Given the description of an element on the screen output the (x, y) to click on. 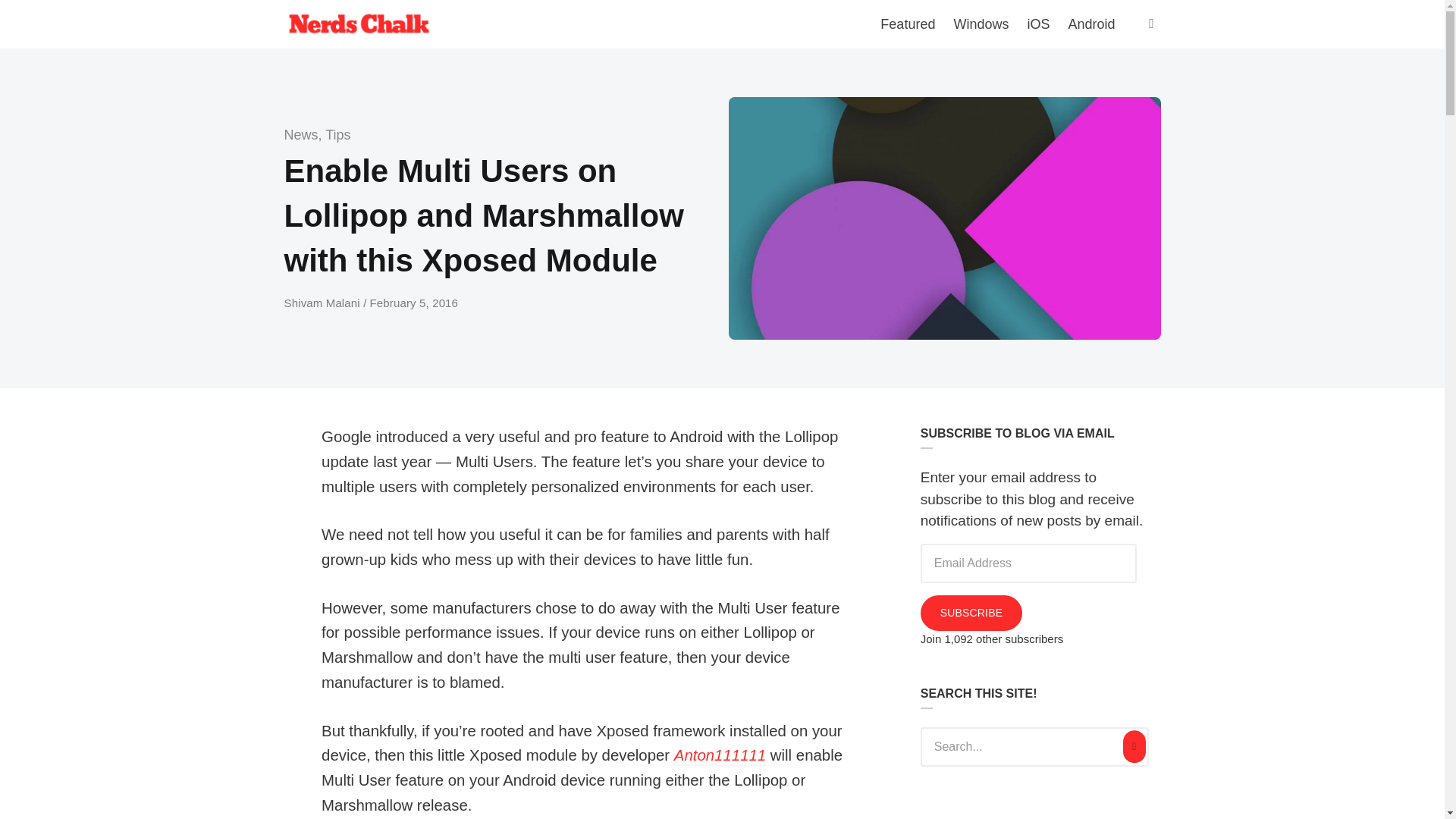
Featured (906, 24)
View user profile. (719, 755)
News (300, 134)
Anton111111 (719, 755)
Tips (337, 134)
Windows (980, 24)
Shivam Malani (322, 302)
Android (1091, 24)
SUBSCRIBE (971, 613)
